Given the description of an element on the screen output the (x, y) to click on. 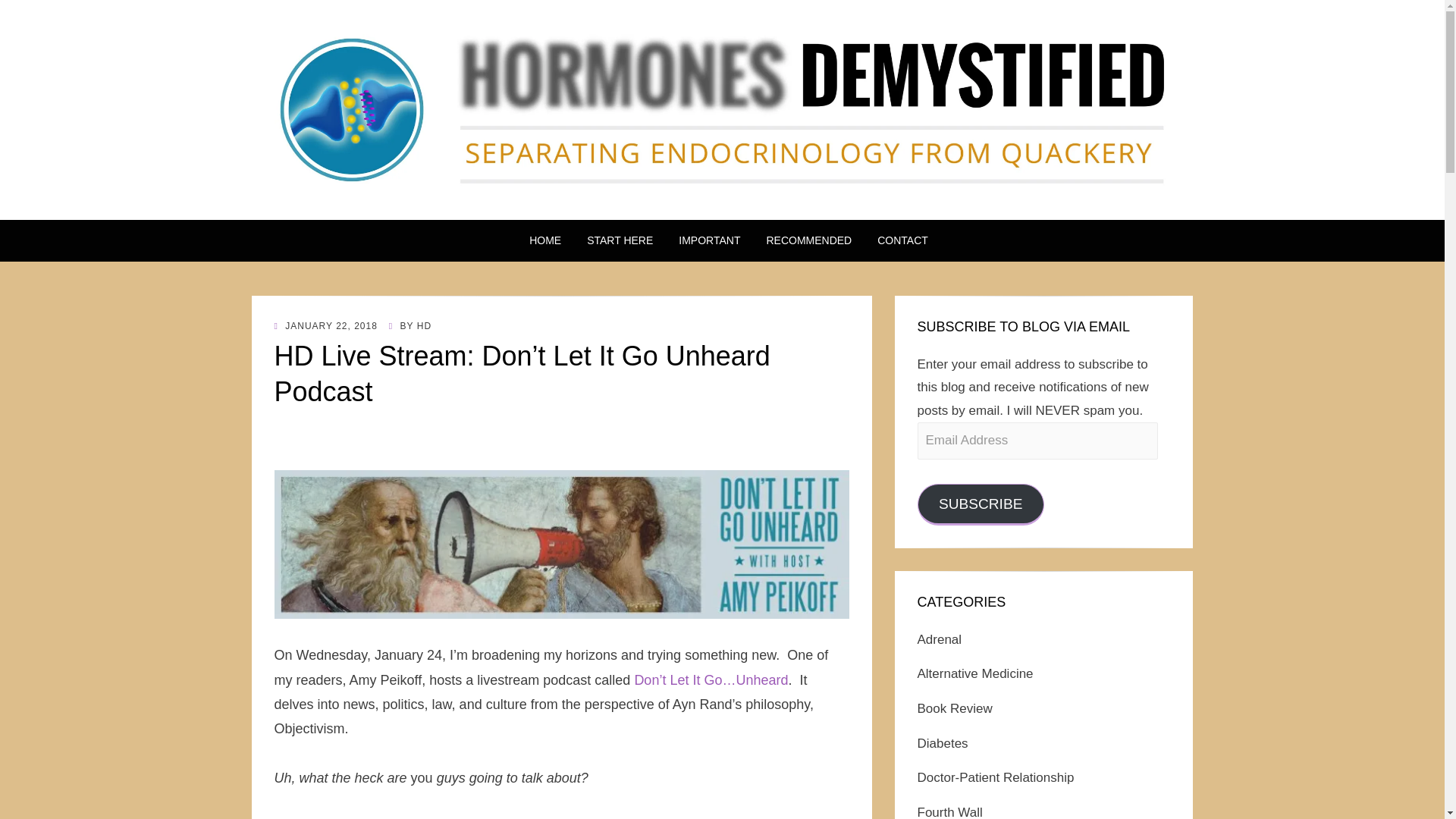
IMPORTANT (708, 240)
hormonesdemystified (440, 209)
RECOMMENDED (808, 240)
CONTACT (896, 240)
hormonesdemystified (440, 209)
START HERE (619, 240)
HOME (544, 240)
HD (423, 326)
JANUARY 22, 2018 (326, 326)
